Given the description of an element on the screen output the (x, y) to click on. 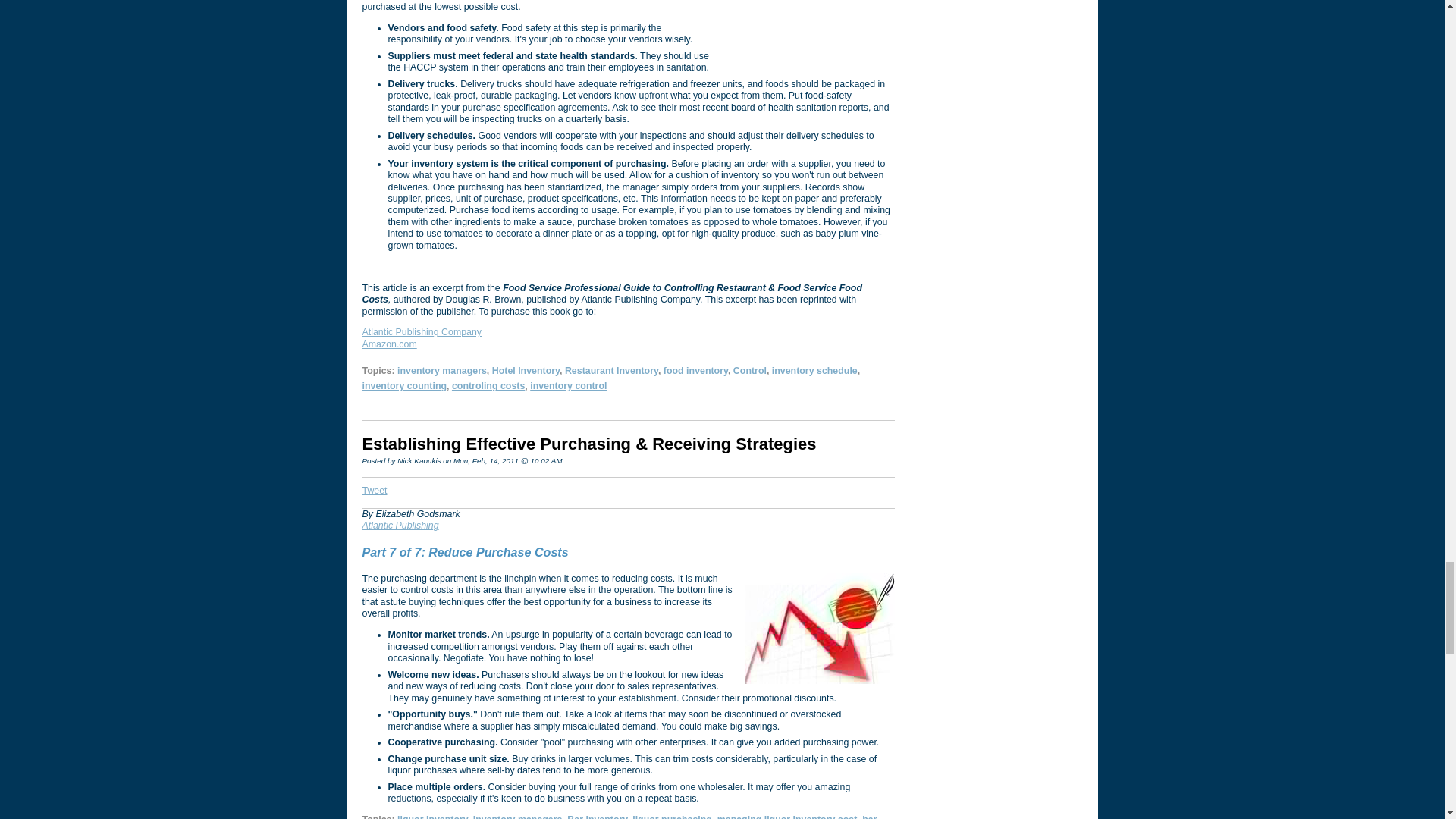
Atlantic Publishing (400, 525)
Atlantic Publishing Company (421, 331)
Amazon.com (389, 344)
